Given the description of an element on the screen output the (x, y) to click on. 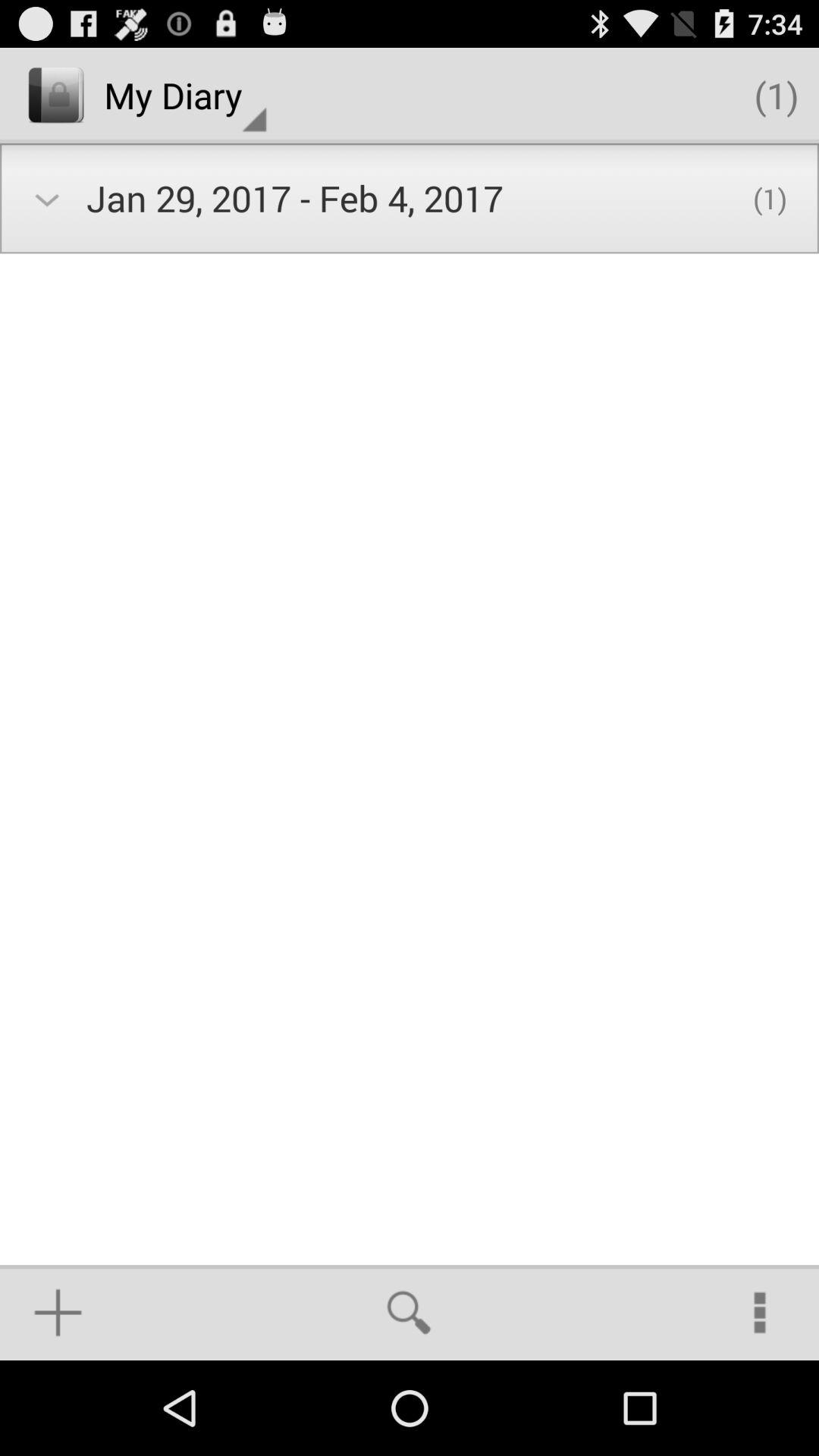
jump to the my diary (185, 95)
